Given the description of an element on the screen output the (x, y) to click on. 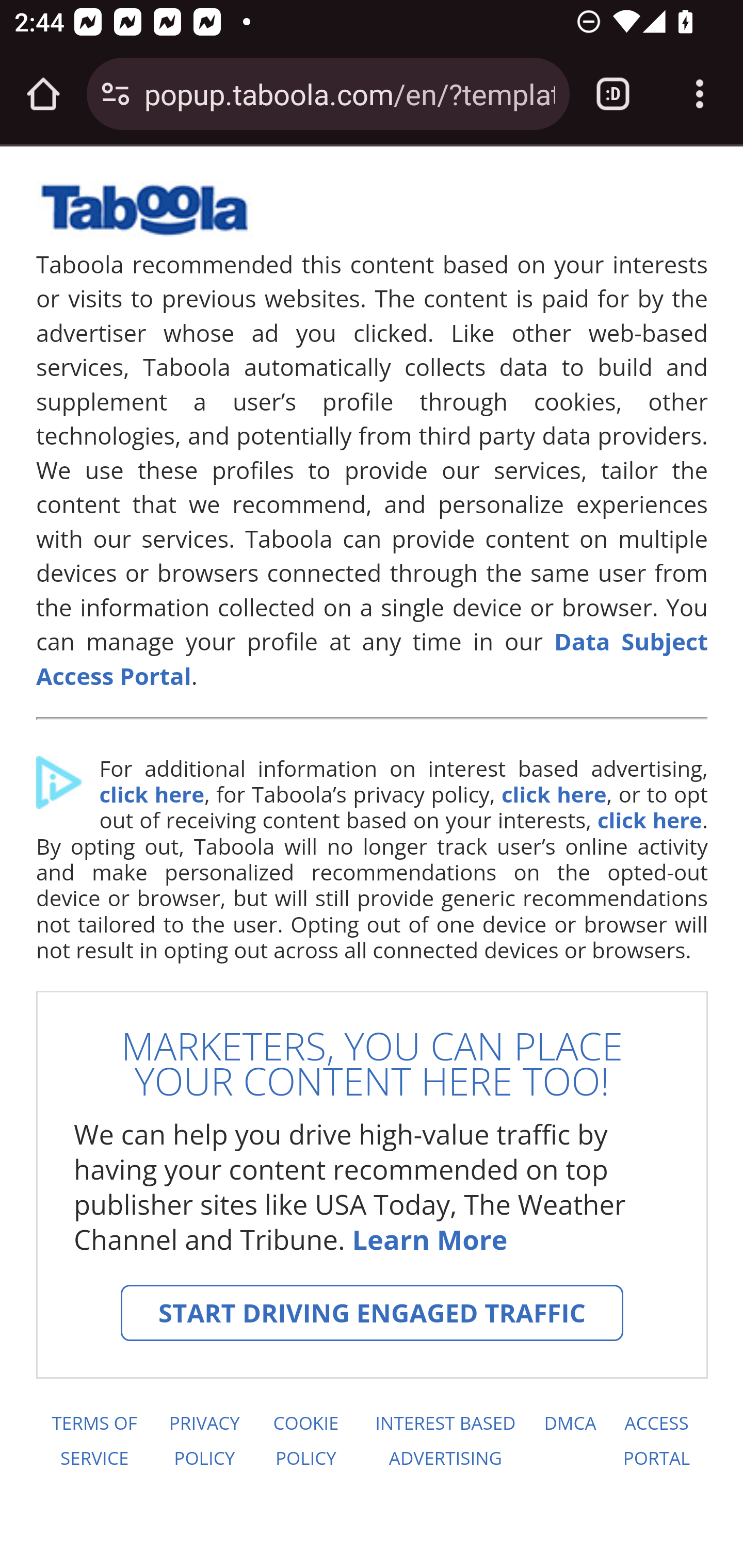
Open the home page (43, 93)
Connection is secure (115, 93)
Switch or close tabs (612, 93)
Customize and control Google Chrome (699, 93)
Taboola (144, 217)
Data Subject Access Portal (372, 658)
click here (151, 793)
click here (553, 793)
click here (648, 819)
Learn More (429, 1239)
START DRIVING ENGAGED TRAFFIC (371, 1312)
TERMS OF SERVICE (93, 1441)
PRIVACY POLICY (203, 1441)
COOKIE POLICY (305, 1441)
INTEREST BASED ADVERTISING (445, 1441)
DMCA (570, 1441)
ACCESS PORTAL (656, 1441)
